Given the description of an element on the screen output the (x, y) to click on. 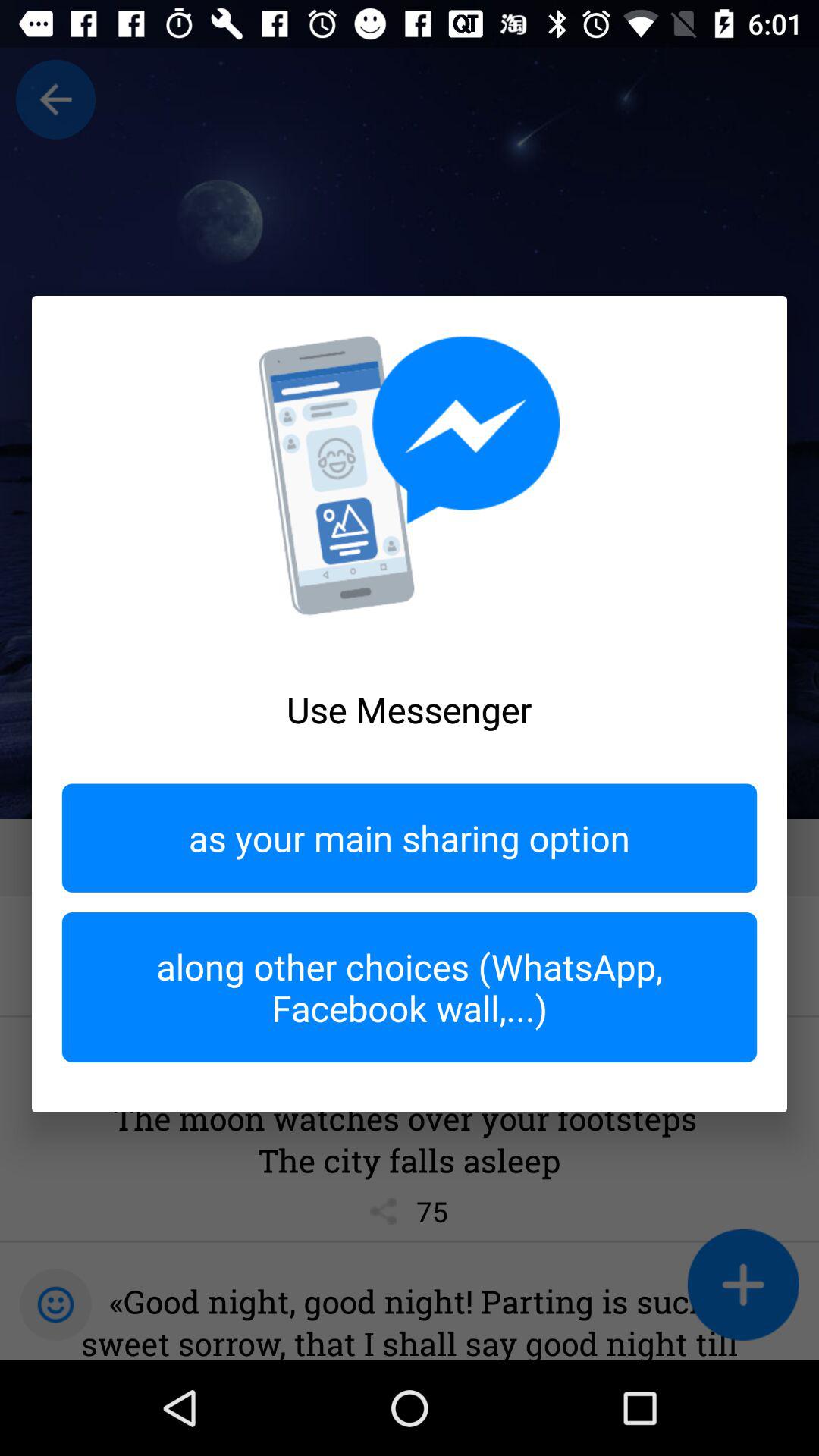
turn off the as your main icon (409, 837)
